Given the description of an element on the screen output the (x, y) to click on. 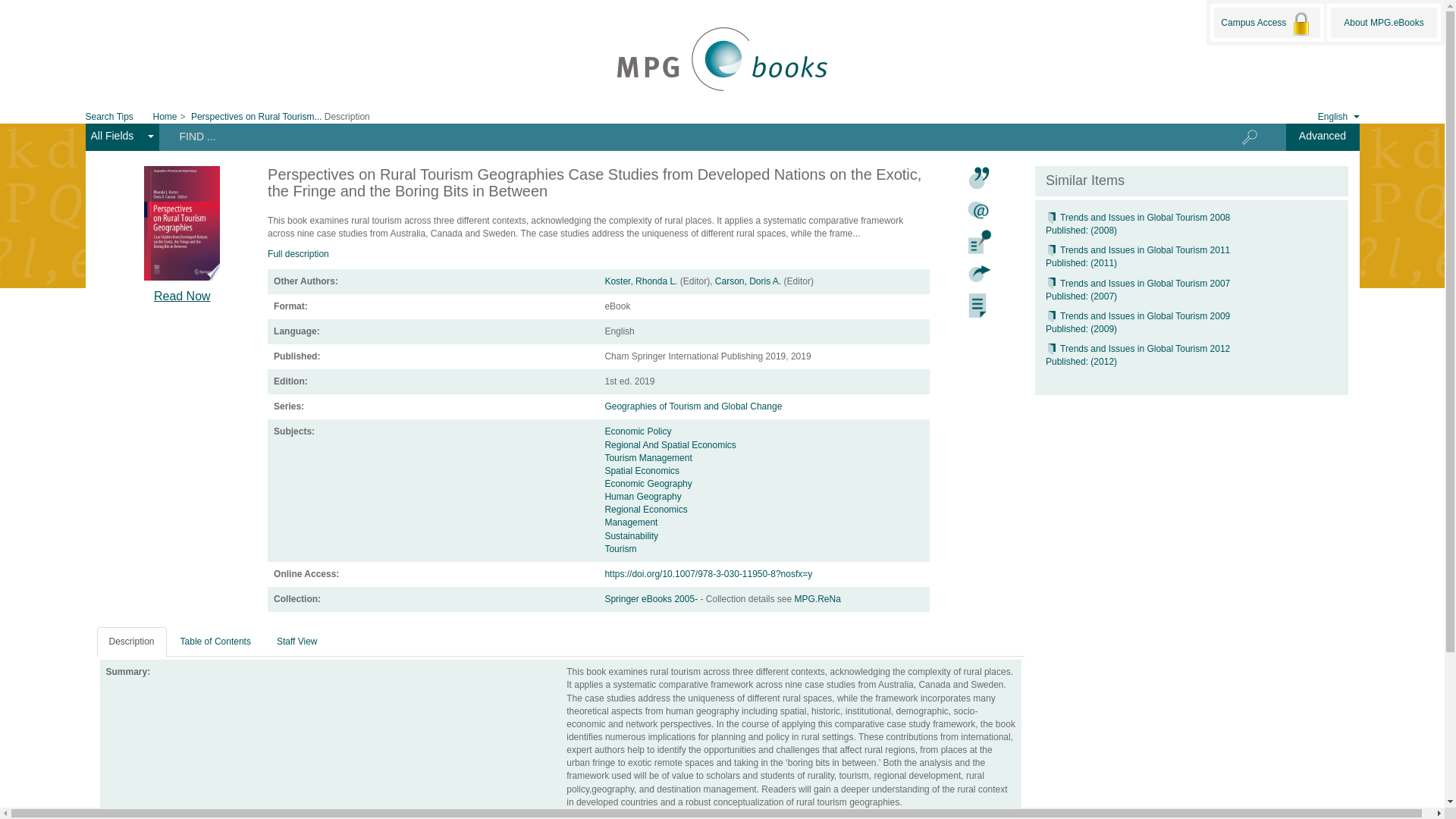
Skip to content (127, 33)
Regional Economics (645, 509)
Tourism (620, 548)
Spatial Economics (641, 470)
Sustainability (631, 535)
Perspectives on Rural Tourism... (255, 116)
Economic Geography (647, 483)
About MPG.eBooks (1383, 22)
Management (631, 521)
Regional And Spatial Economics (669, 444)
Human Geography (642, 496)
Home (164, 116)
Language (1326, 116)
Springer eBooks 2005- (652, 598)
All Fields (121, 136)
